Given the description of an element on the screen output the (x, y) to click on. 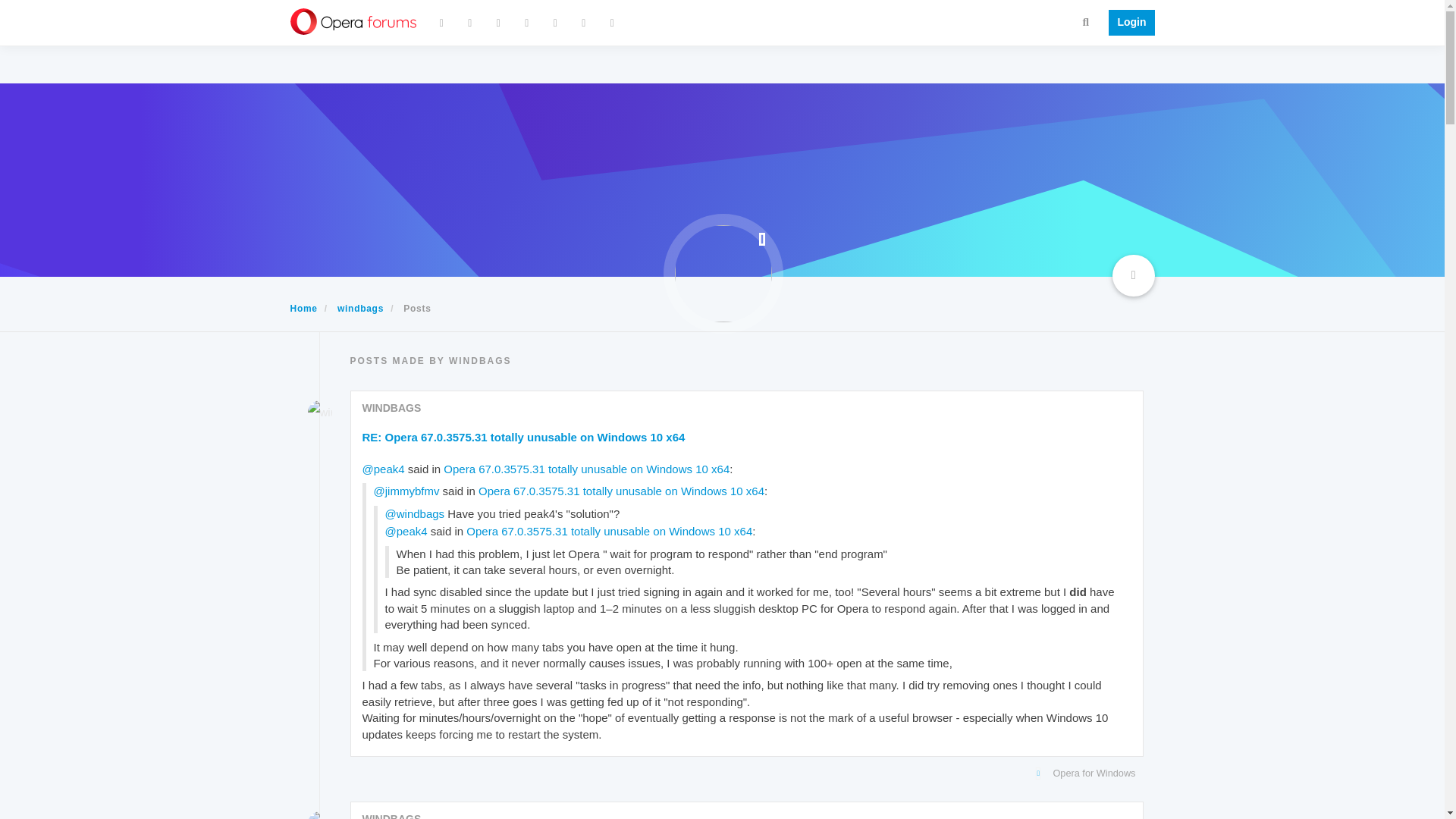
Opera 67.0.3575.31 totally unusable on Windows 10 x64 (621, 490)
Login (1127, 22)
RE: Opera 67.0.3575.31 totally unusable on Windows 10 x64 (523, 437)
Search (1085, 21)
Home (303, 308)
windbags (319, 412)
Opera 67.0.3575.31 totally unusable on Windows 10 x64 (586, 468)
windbags (360, 308)
Opera 67.0.3575.31 totally unusable on Windows 10 x64 (608, 530)
Opera for Windows (742, 773)
